Given the description of an element on the screen output the (x, y) to click on. 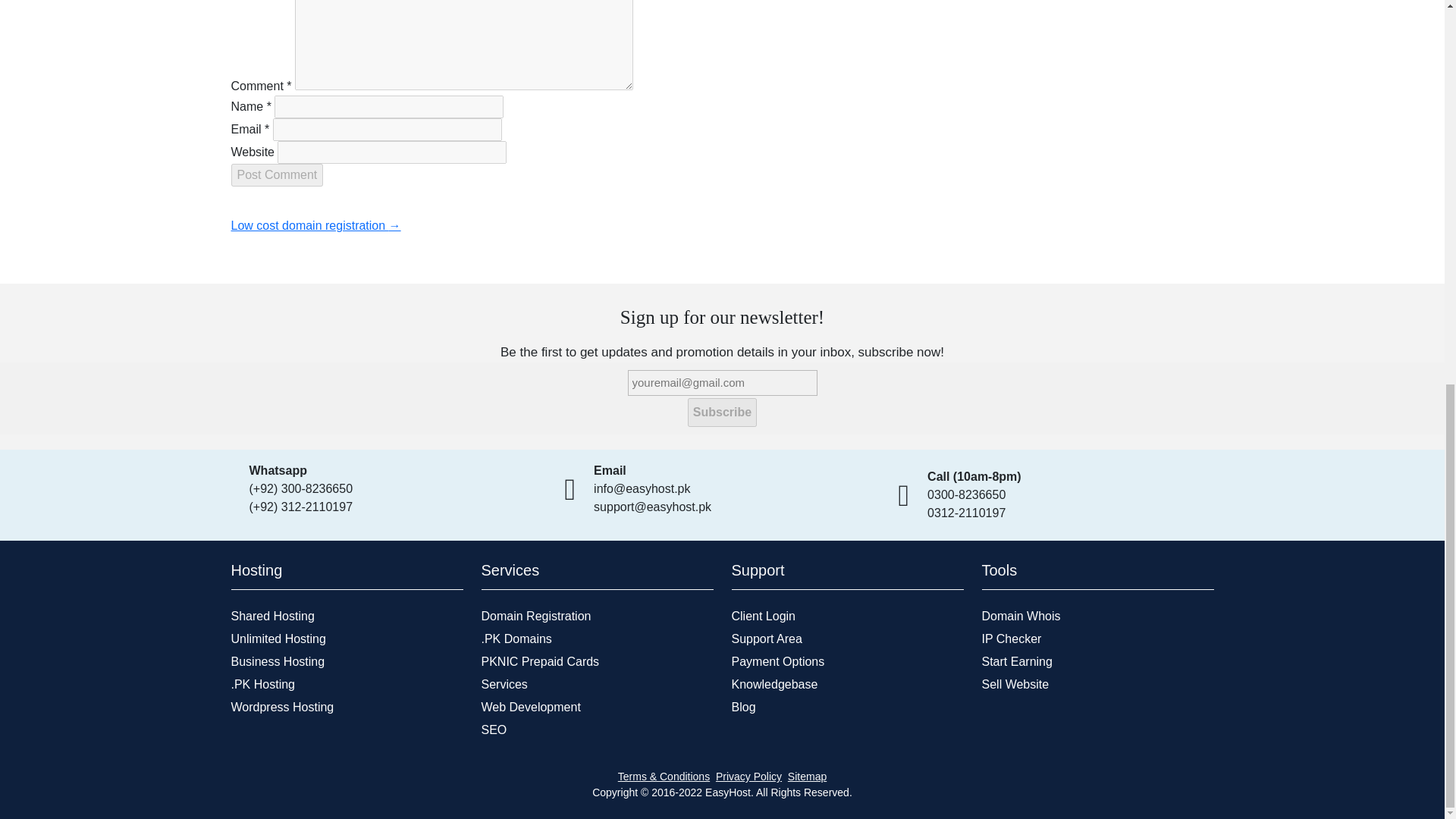
Post Comment (276, 174)
.PK Domains (515, 638)
Subscribe (722, 412)
Post Comment (276, 174)
Shared Hosting (272, 615)
Business Hosting (277, 661)
.PK Hosting (262, 684)
Wordpress Hosting (281, 707)
Web Development (529, 707)
Unlimited Hosting (277, 638)
PKNIC Prepaid Cards (539, 661)
Subscribe (722, 412)
Domain Registration (535, 615)
Services (503, 684)
